Given the description of an element on the screen output the (x, y) to click on. 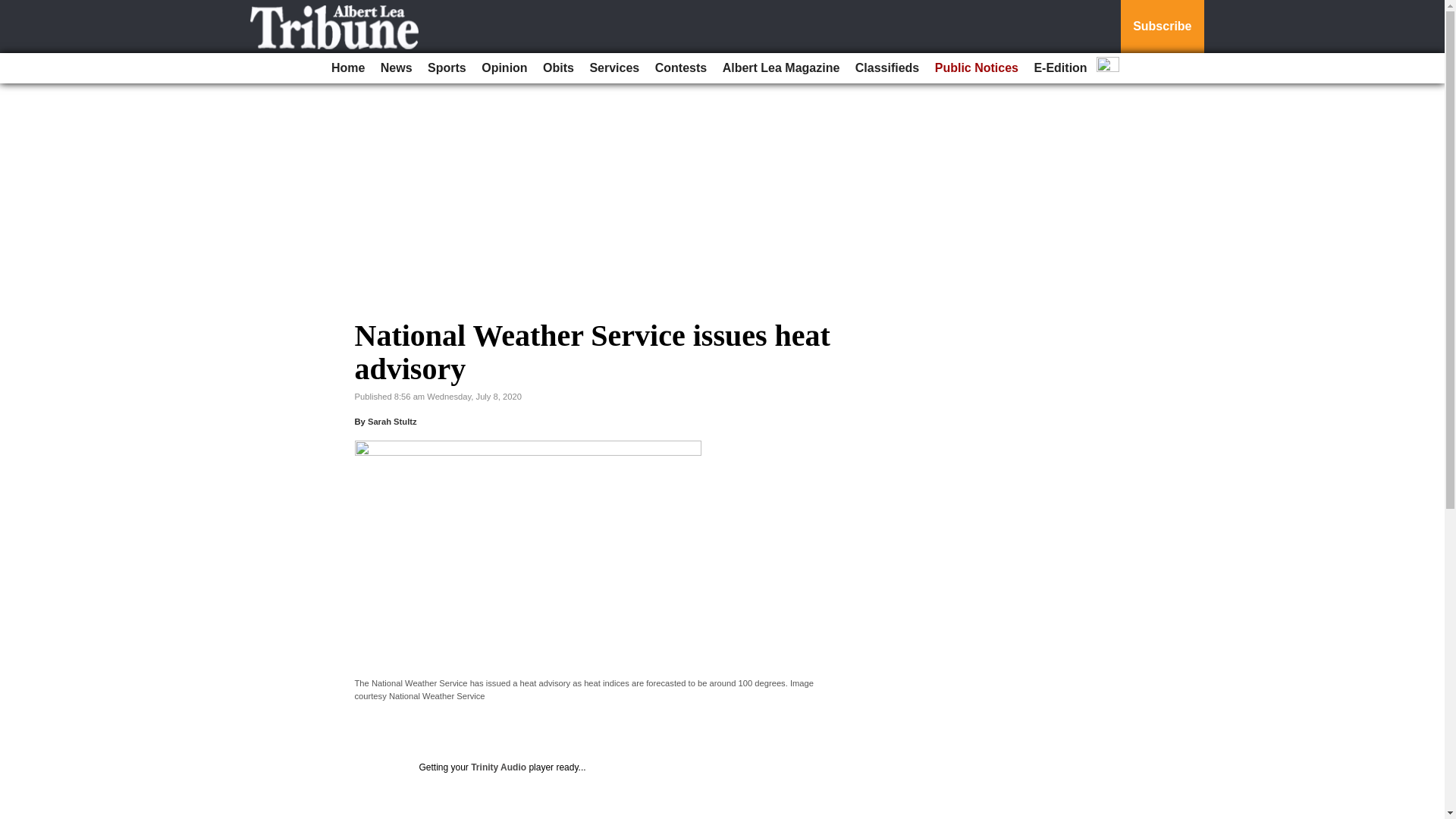
Opinion (504, 68)
Subscribe (1162, 26)
Obits (558, 68)
News (396, 68)
Services (614, 68)
Home (347, 68)
Sports (446, 68)
